Given the description of an element on the screen output the (x, y) to click on. 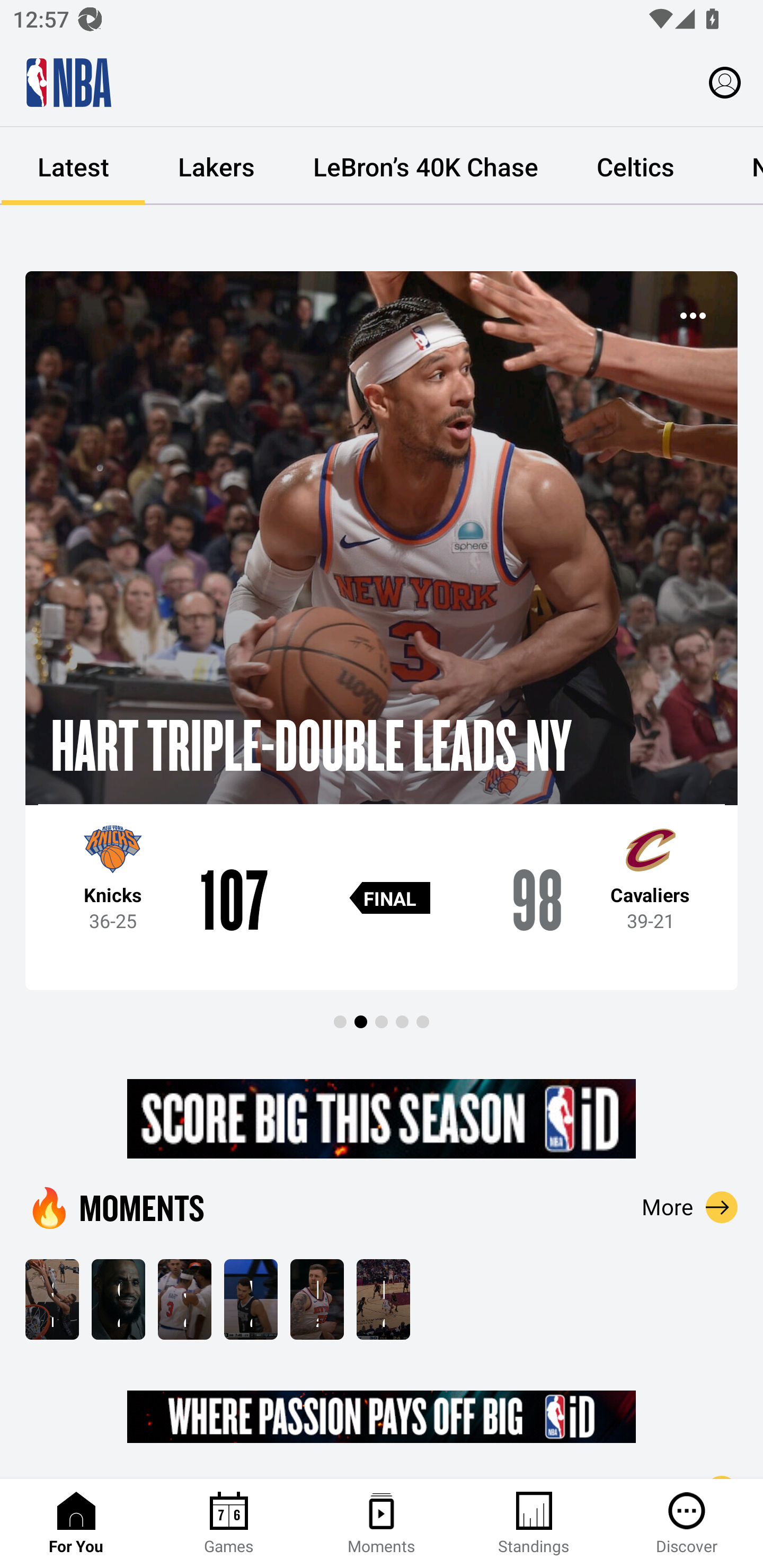
Profile (724, 81)
Lakers (215, 166)
LeBron’s 40K Chase (425, 166)
Celtics (634, 166)
More (689, 1207)
Sunday's Top Plays In 30 Seconds ⏱ (51, 1299)
Hartenstein Drops The Hammer 🔨 (317, 1299)
Games (228, 1523)
Moments (381, 1523)
Standings (533, 1523)
Discover (686, 1523)
